Given the description of an element on the screen output the (x, y) to click on. 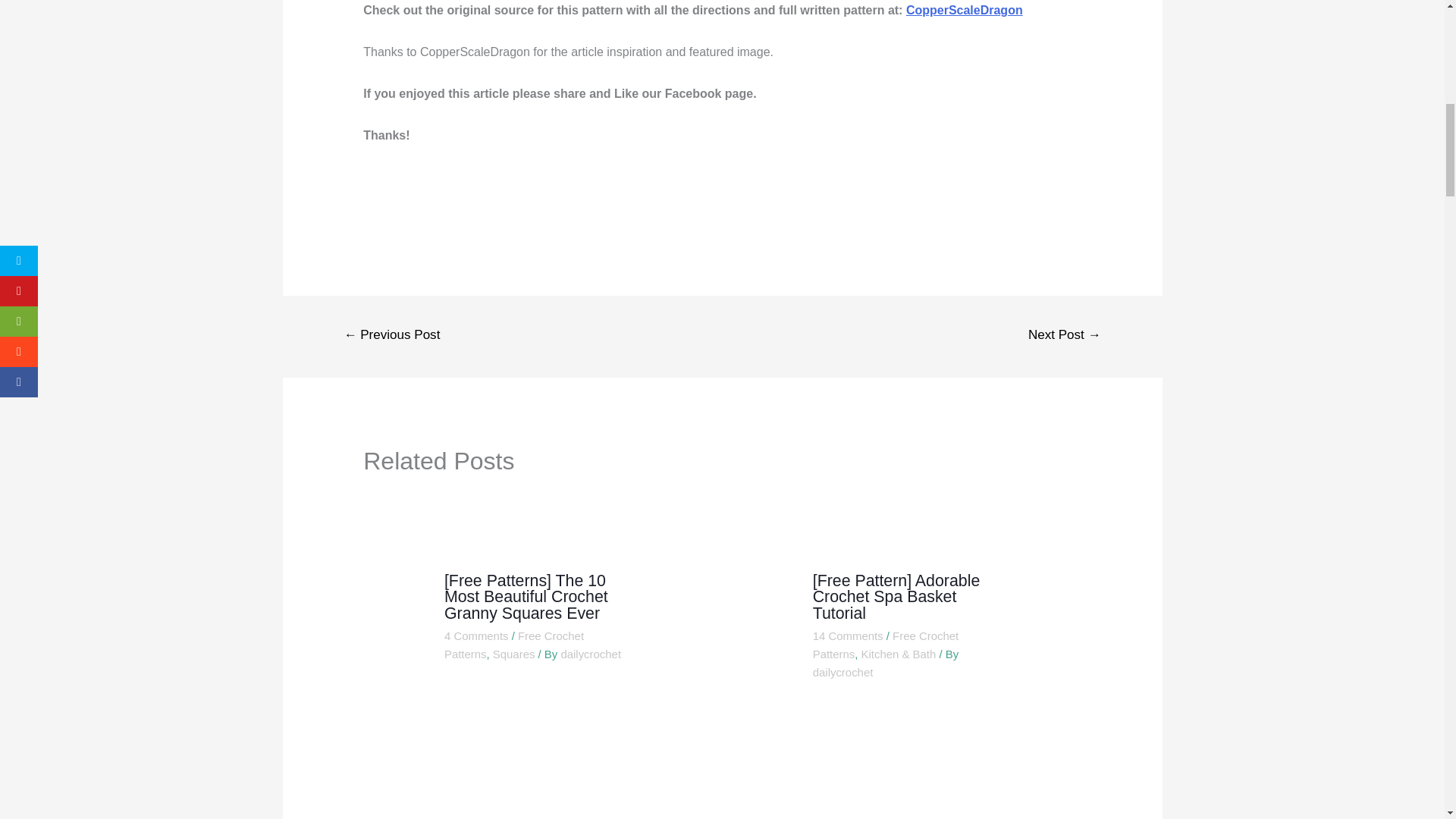
Free Crochet Patterns (513, 644)
View all posts by dailycrochet (590, 653)
CopperScaleDragon (964, 9)
dailycrochet (842, 671)
4 Comments (476, 635)
Free Crochet Patterns (885, 644)
View all posts by dailycrochet (842, 671)
dailycrochet (590, 653)
Squares (514, 653)
14 Comments (847, 635)
